Given the description of an element on the screen output the (x, y) to click on. 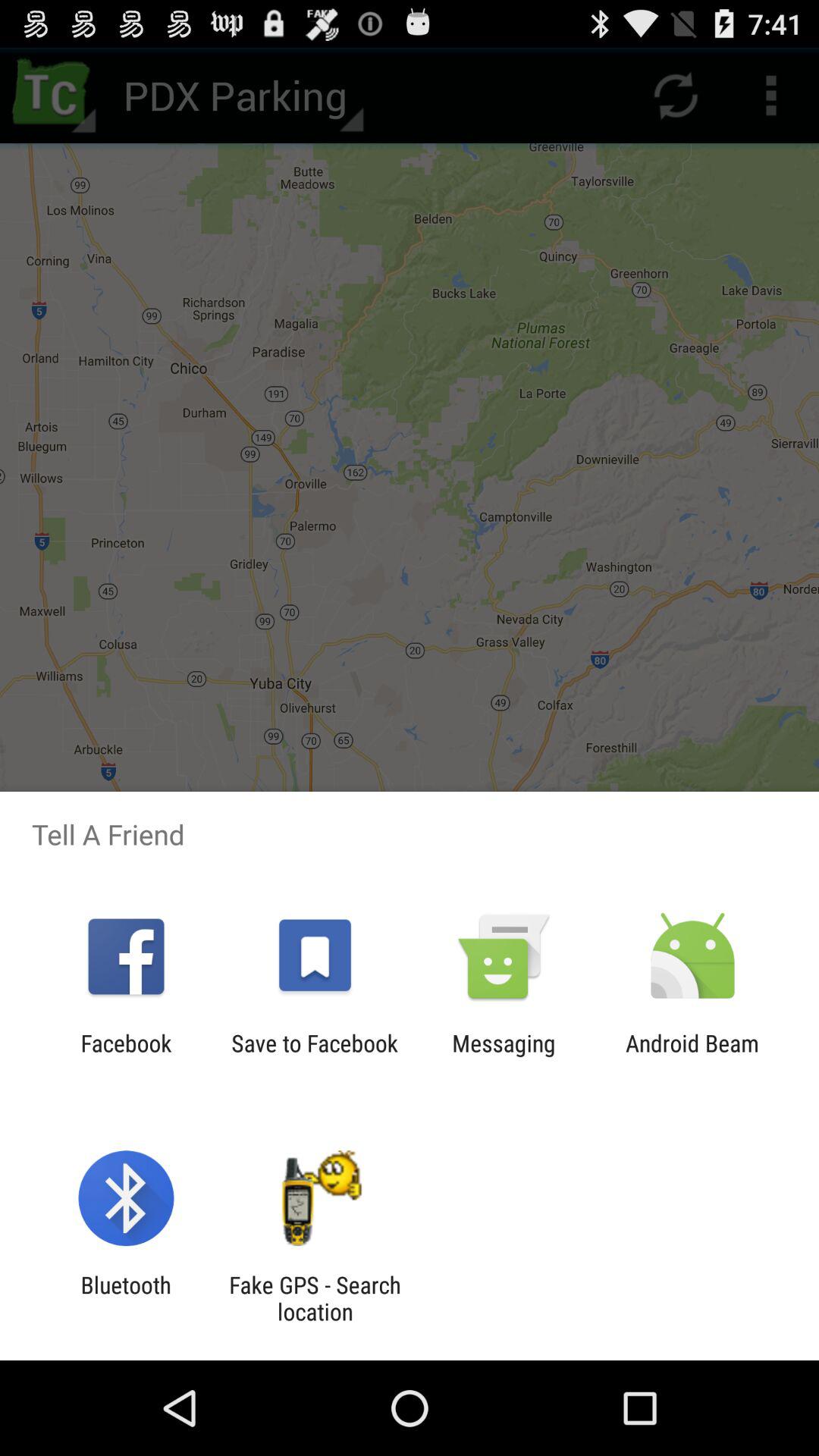
turn on app to the right of the facebook app (314, 1056)
